Given the description of an element on the screen output the (x, y) to click on. 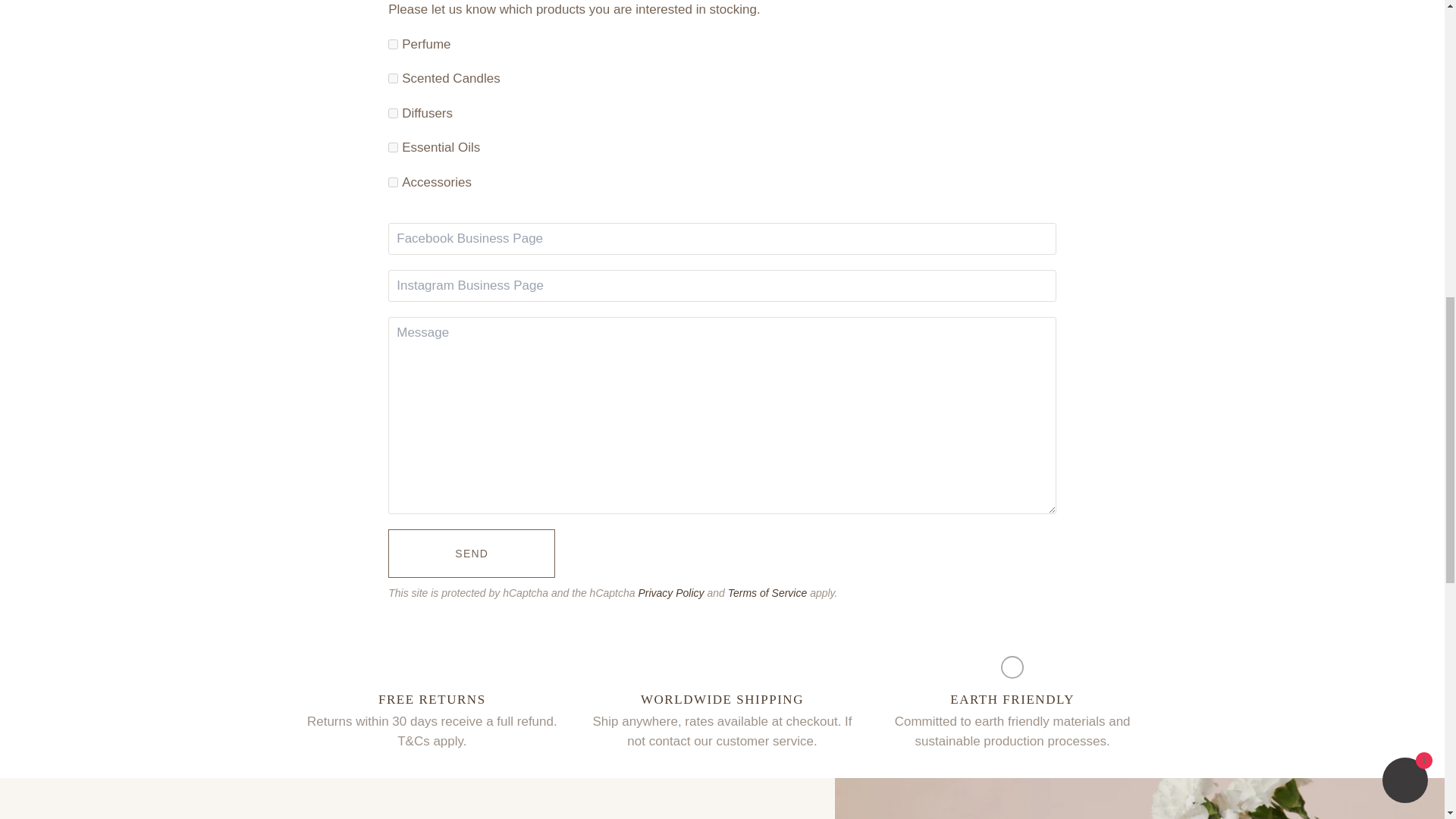
Scented Candles (392, 78)
Perfume (392, 44)
Diffusers (392, 112)
Essential Oils (392, 147)
Accessories (392, 182)
